Given the description of an element on the screen output the (x, y) to click on. 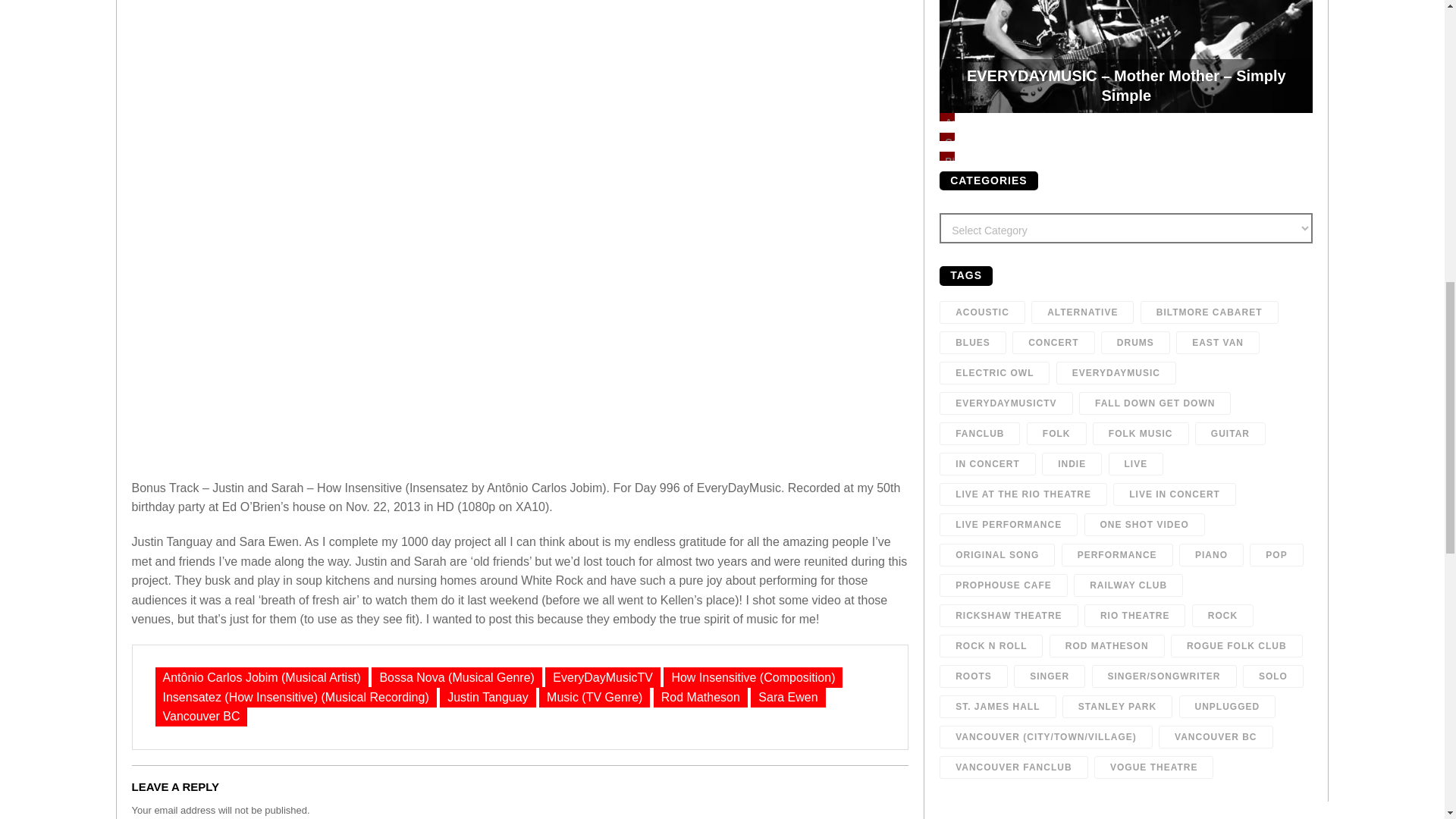
ACOUSTIC (982, 312)
EveryDayMusicTV (602, 677)
BLUES (972, 342)
BILTMORE CABARET (1209, 312)
EVERYDAYMUSIC (1116, 372)
Rod Matheson (700, 697)
ALTERNATIVE (1082, 312)
Justin Tanguay (487, 697)
DRUMS (1135, 342)
Vancouver BC (200, 715)
FALL DOWN GET DOWN (1154, 403)
EVERYDAYMUSICTV (1005, 403)
CONCERT (1052, 342)
Sara Ewen (788, 697)
ELECTRIC OWL (994, 372)
